Given the description of an element on the screen output the (x, y) to click on. 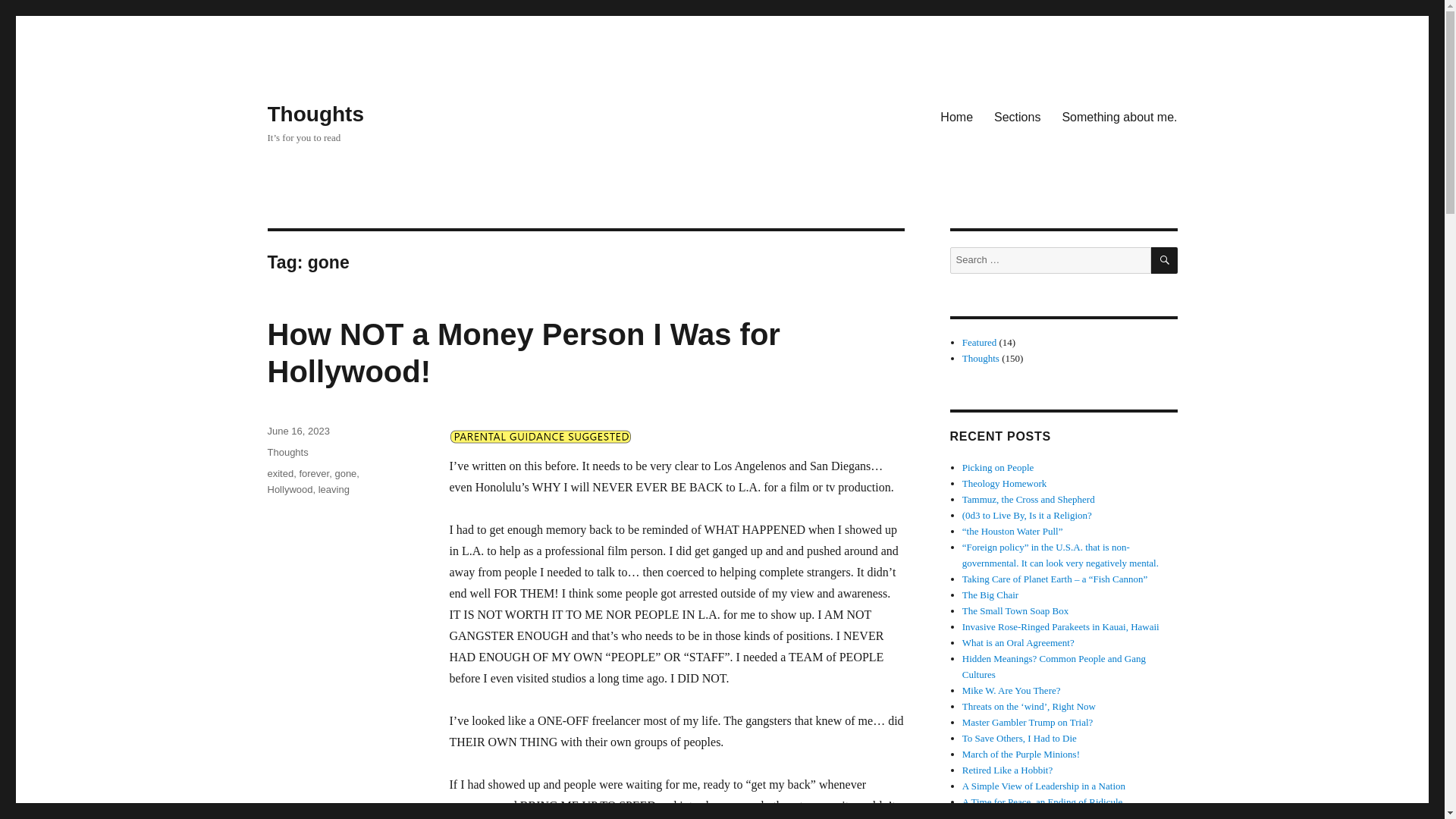
Sections (1017, 116)
A Time for Peace, an Ending of Ridicule (1042, 801)
Mike W. Are You There? (1011, 690)
Home (957, 116)
gone (345, 473)
Thoughts (315, 114)
A Simple View of Leadership in a Nation (1043, 785)
SEARCH (1164, 260)
Master Gambler Trump on Trial? (1027, 722)
On Boat, Should I Swim Instead? (1028, 815)
forever (313, 473)
exited (280, 473)
The Big Chair (989, 594)
Thoughts (980, 357)
June 16, 2023 (297, 430)
